Given the description of an element on the screen output the (x, y) to click on. 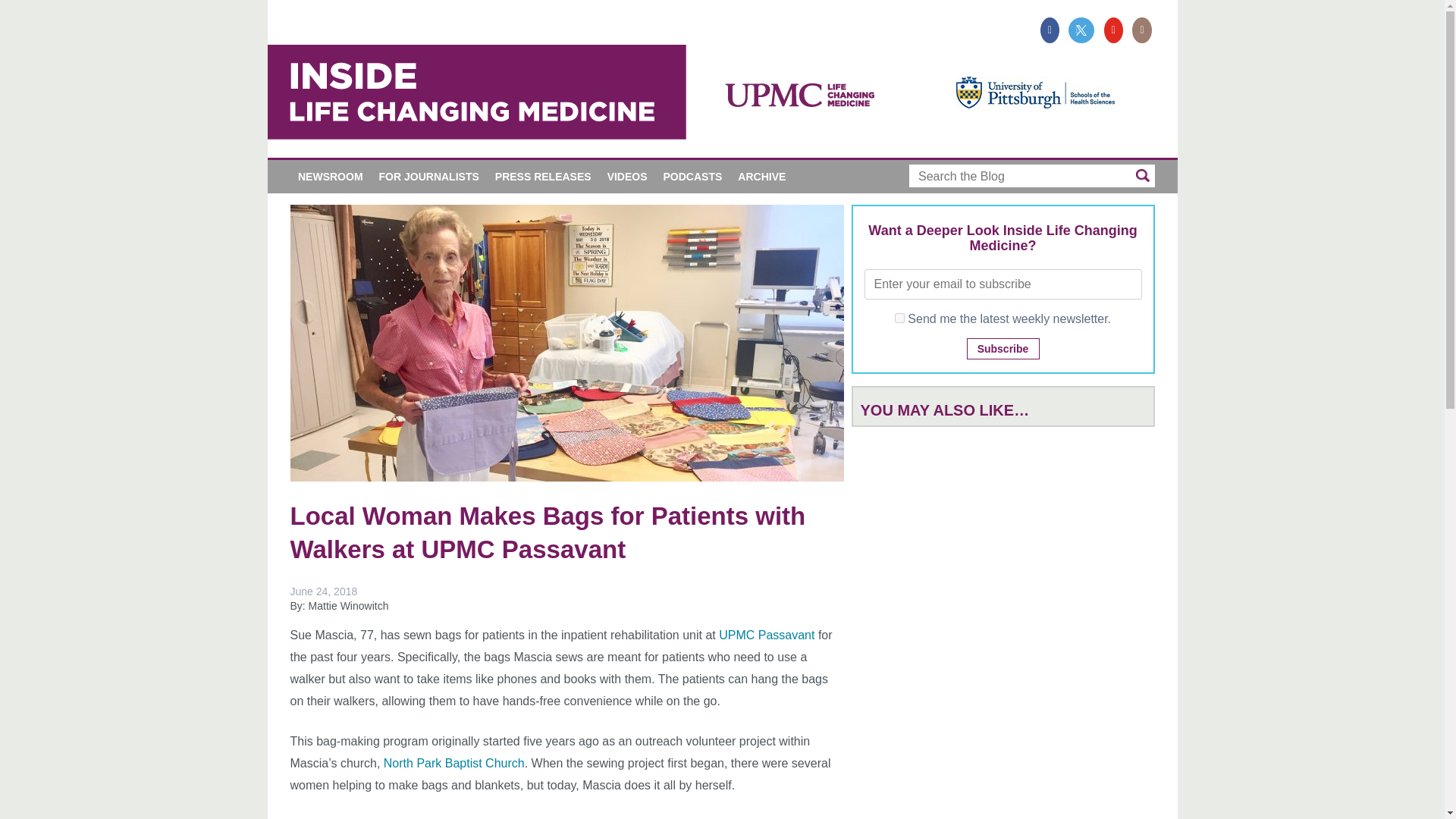
on (899, 317)
VIDEOS (626, 176)
FOR JOURNALISTS (428, 176)
PODCASTS (692, 176)
NEWSROOM (330, 176)
Subscribe (1002, 348)
Subscribe (1002, 348)
PRESS RELEASES (542, 176)
North Park Baptist Church (454, 762)
UPMC Passavant (766, 634)
ARCHIVE (761, 176)
